Given the description of an element on the screen output the (x, y) to click on. 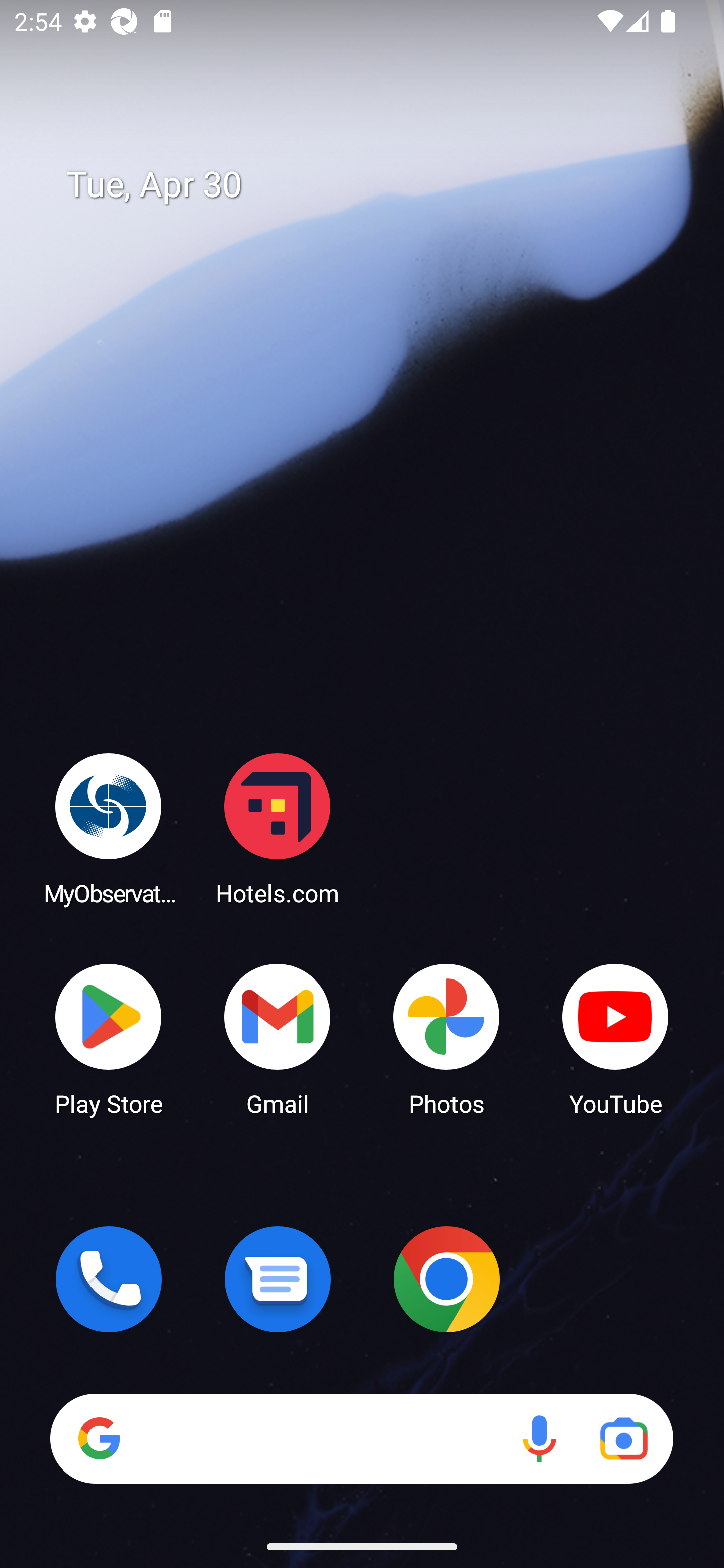
Tue, Apr 30 (375, 184)
MyObservatory (108, 828)
Hotels.com (277, 828)
Play Store (108, 1038)
Gmail (277, 1038)
Photos (445, 1038)
YouTube (615, 1038)
Phone (108, 1279)
Messages (277, 1279)
Chrome (446, 1279)
Voice search (539, 1438)
Google Lens (623, 1438)
